Given the description of an element on the screen output the (x, y) to click on. 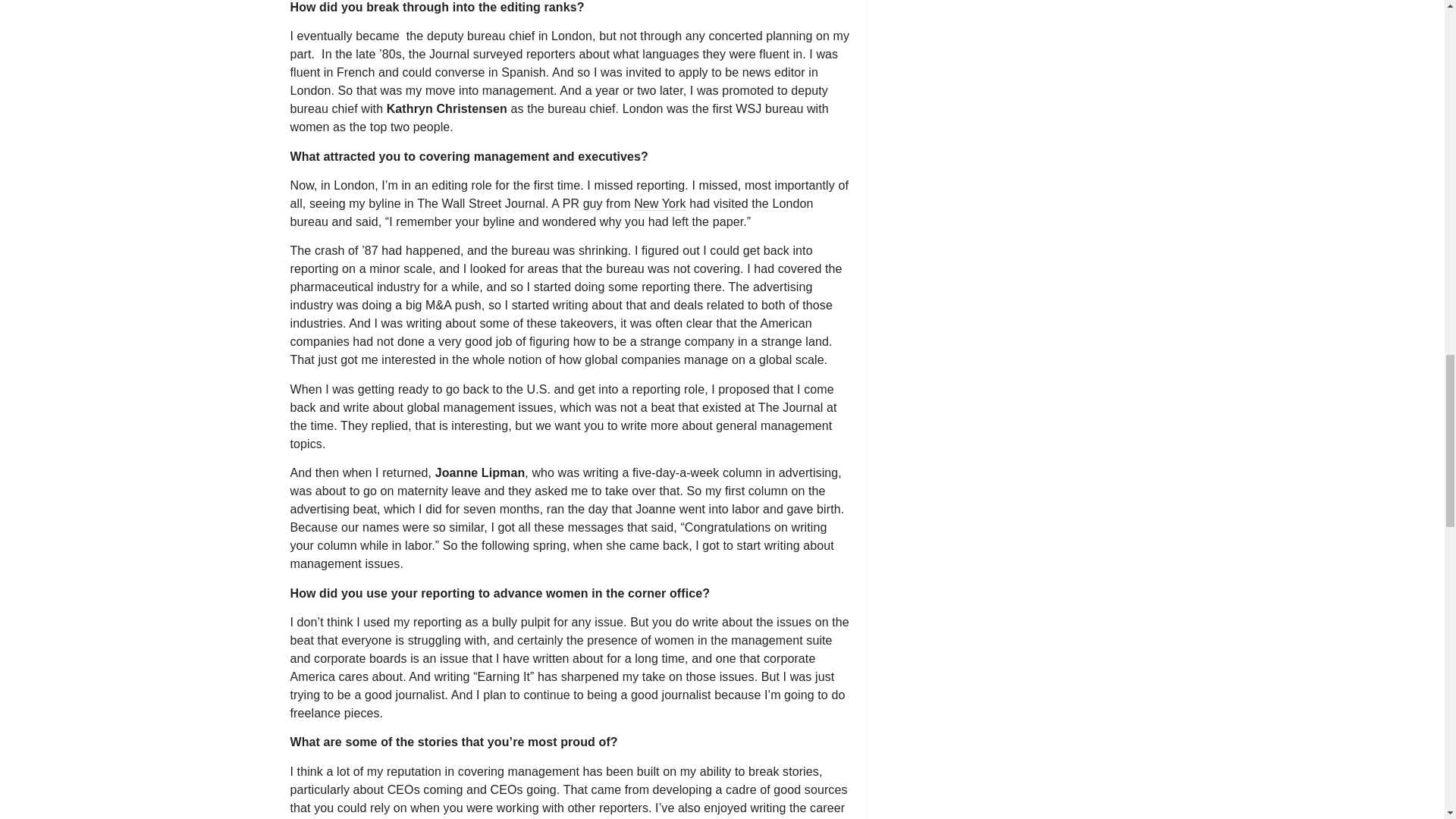
New York (659, 203)
